Given the description of an element on the screen output the (x, y) to click on. 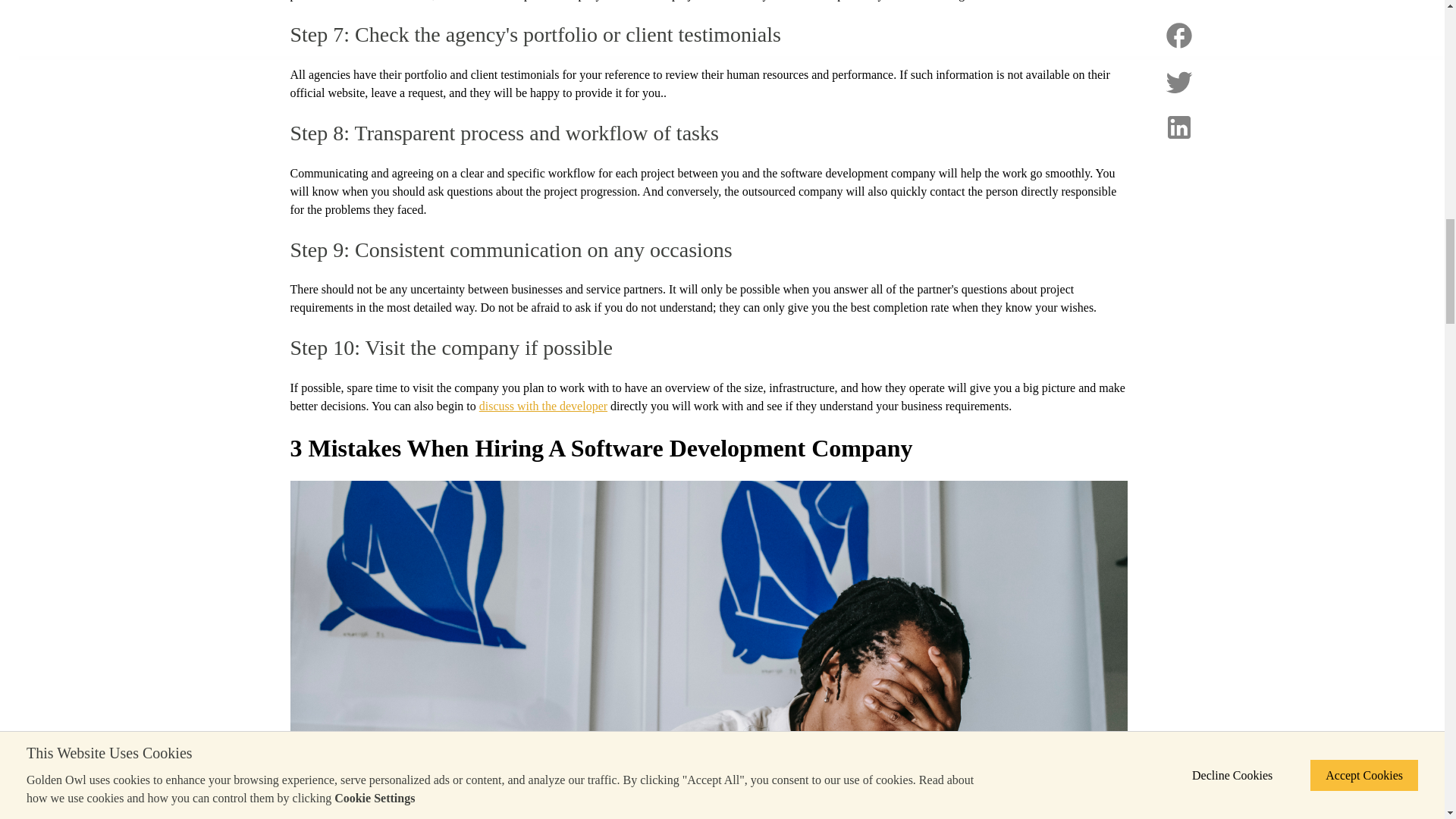
discuss with the developer (543, 405)
